Given the description of an element on the screen output the (x, y) to click on. 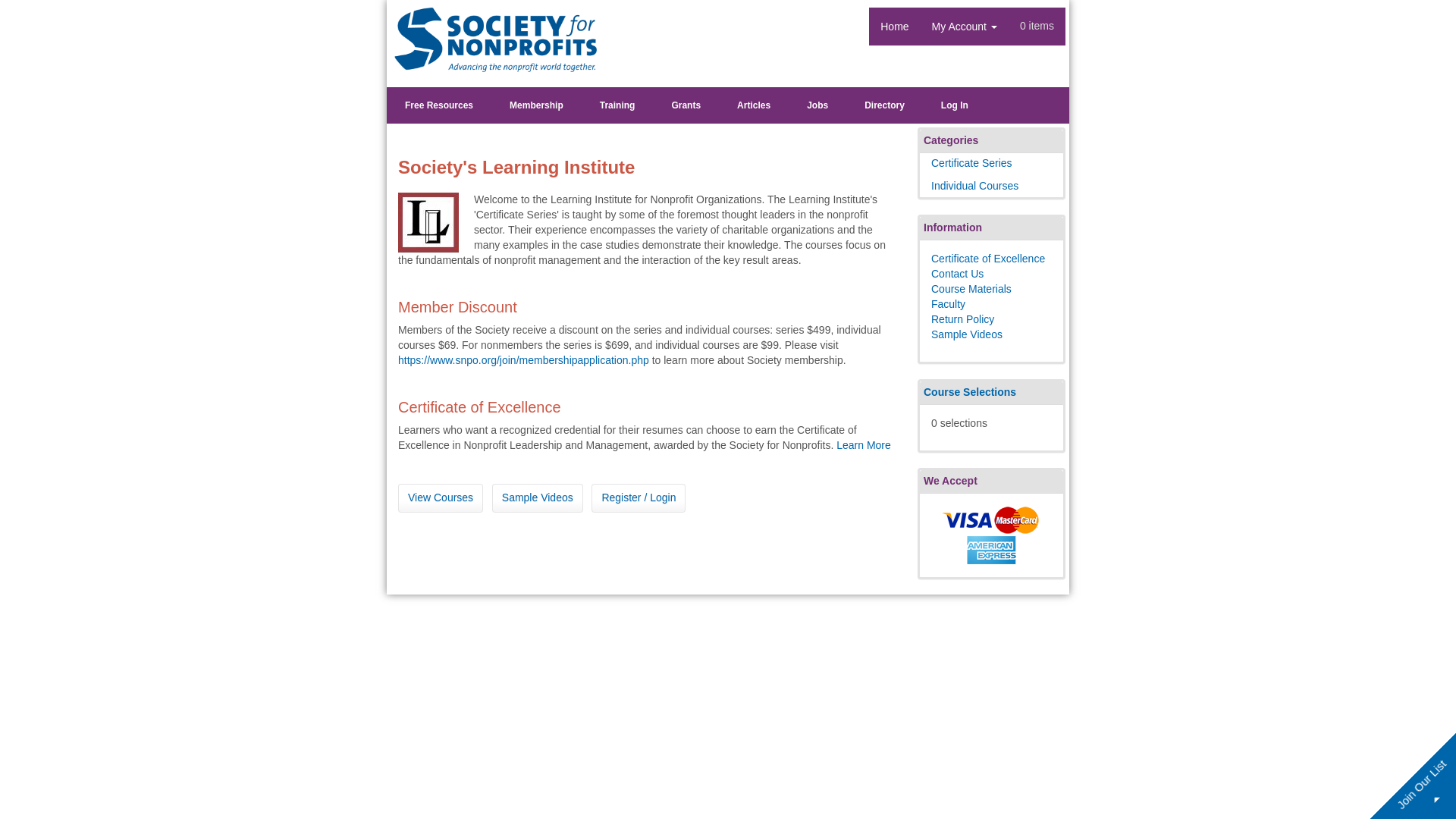
My Account (964, 26)
Training (618, 105)
Free Resources (438, 105)
Home (894, 26)
Membership (536, 105)
Society's Learning Institute (495, 39)
